Given the description of an element on the screen output the (x, y) to click on. 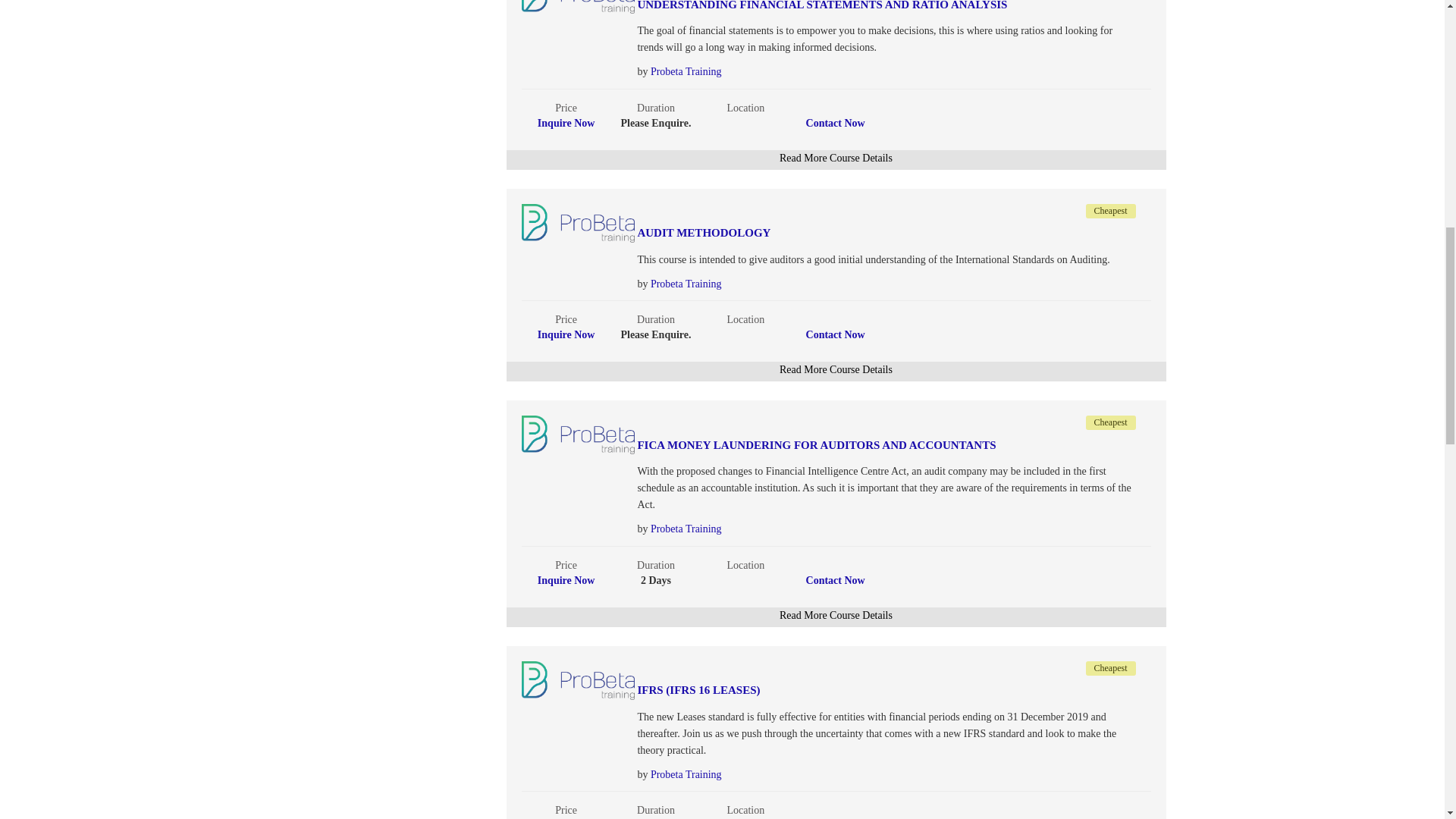
FICA Money Laundering For Auditors And Accountants (838, 445)
Audit Methodology (838, 232)
Understanding Financial Statements and Ratio Analysis (838, 5)
